Given the description of an element on the screen output the (x, y) to click on. 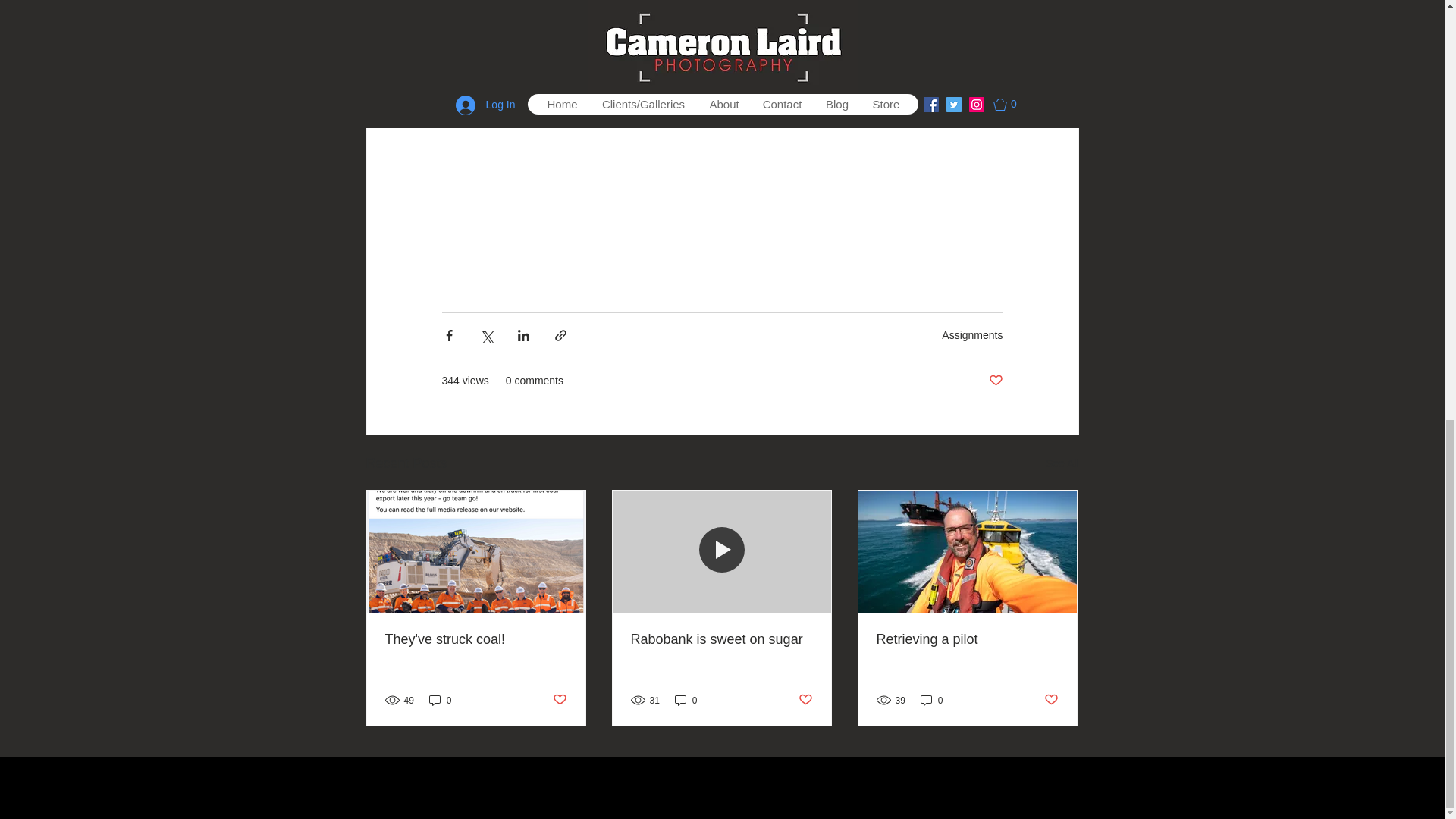
Post not marked as liked (995, 380)
Retrieving a pilot (967, 639)
See All (1061, 463)
Assignments (972, 335)
Post not marked as liked (1050, 700)
Post not marked as liked (804, 700)
Post not marked as liked (558, 700)
0 (931, 699)
They've struck coal! (476, 639)
Rabobank is sweet on sugar (721, 639)
